Given the description of an element on the screen output the (x, y) to click on. 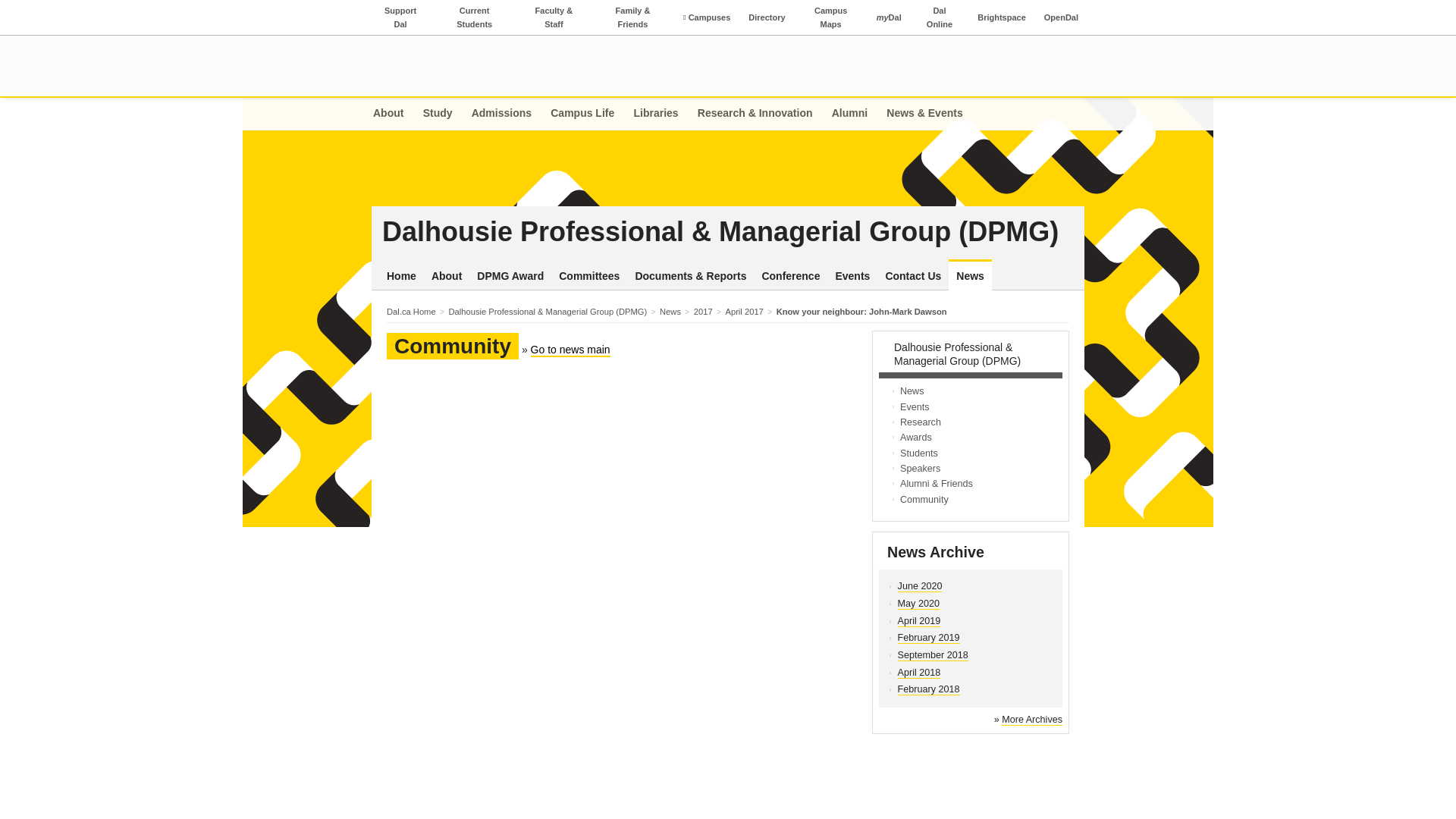
Admissions (501, 114)
OpenDal (1061, 17)
Conference (790, 276)
Support Dal (400, 17)
Campus Maps (830, 17)
Campuses (706, 17)
DPMG Award (509, 276)
Committees (589, 276)
About (392, 114)
Libraries (655, 114)
